Given the description of an element on the screen output the (x, y) to click on. 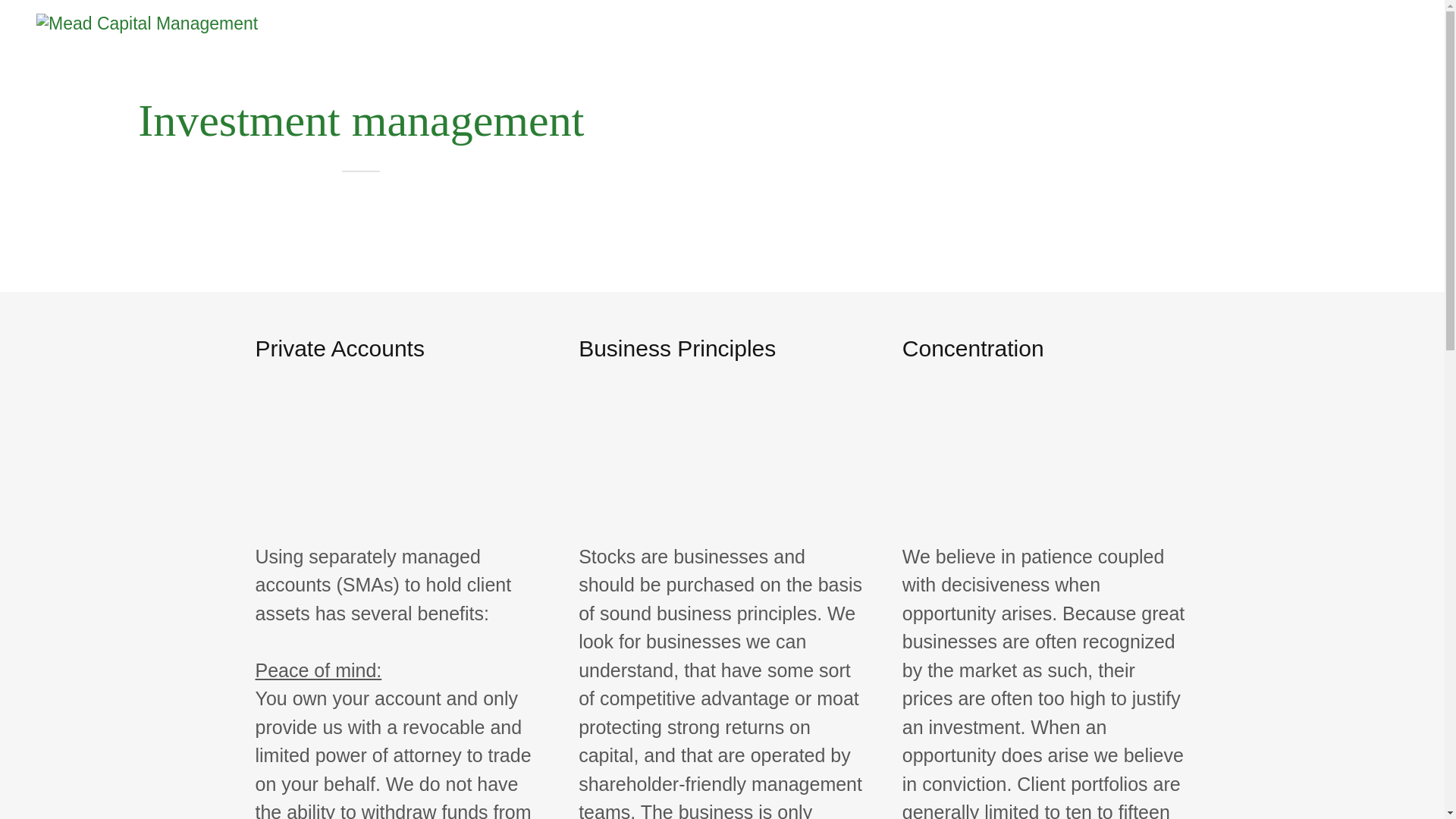
Mead Capital Management (146, 21)
